Given the description of an element on the screen output the (x, y) to click on. 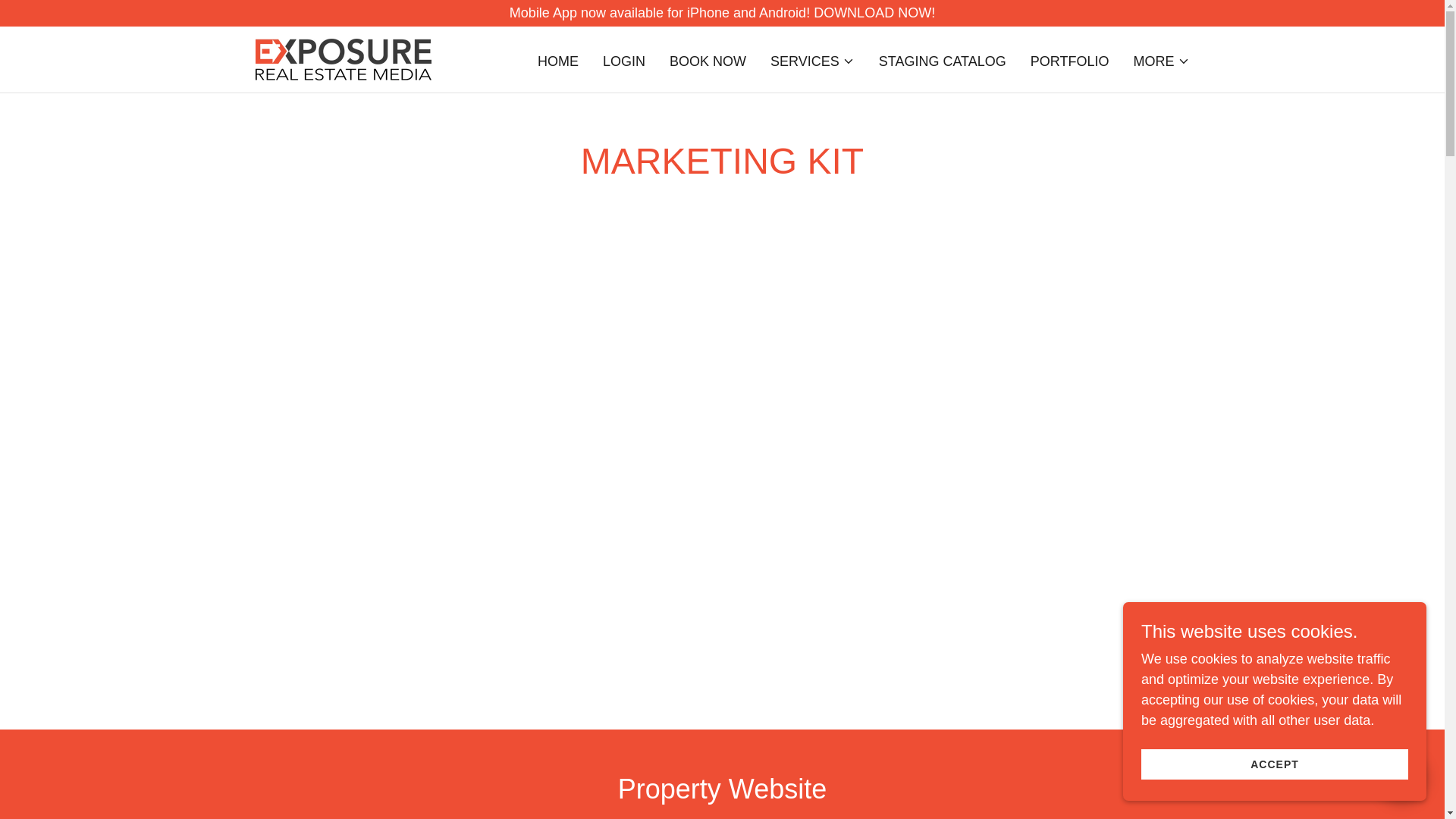
LOGIN (623, 61)
BOOK NOW (708, 61)
STAGING CATALOG (942, 61)
HOME (557, 61)
MORE (1160, 61)
SERVICES (812, 61)
PORTFOLIO (1069, 61)
Exposure Real Estate Media (342, 58)
